Given the description of an element on the screen output the (x, y) to click on. 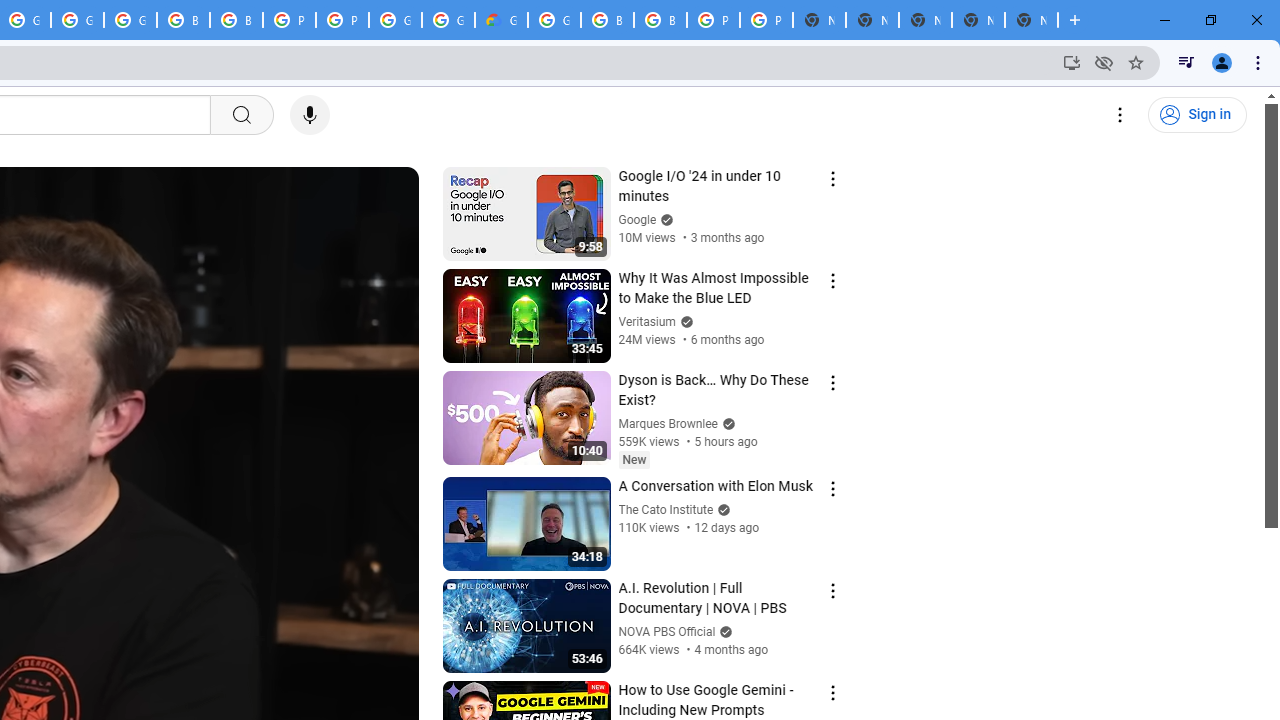
New Tab (1031, 20)
Google Cloud Platform (448, 20)
Google Cloud Estimate Summary (501, 20)
Search with your voice (309, 115)
